Given the description of an element on the screen output the (x, y) to click on. 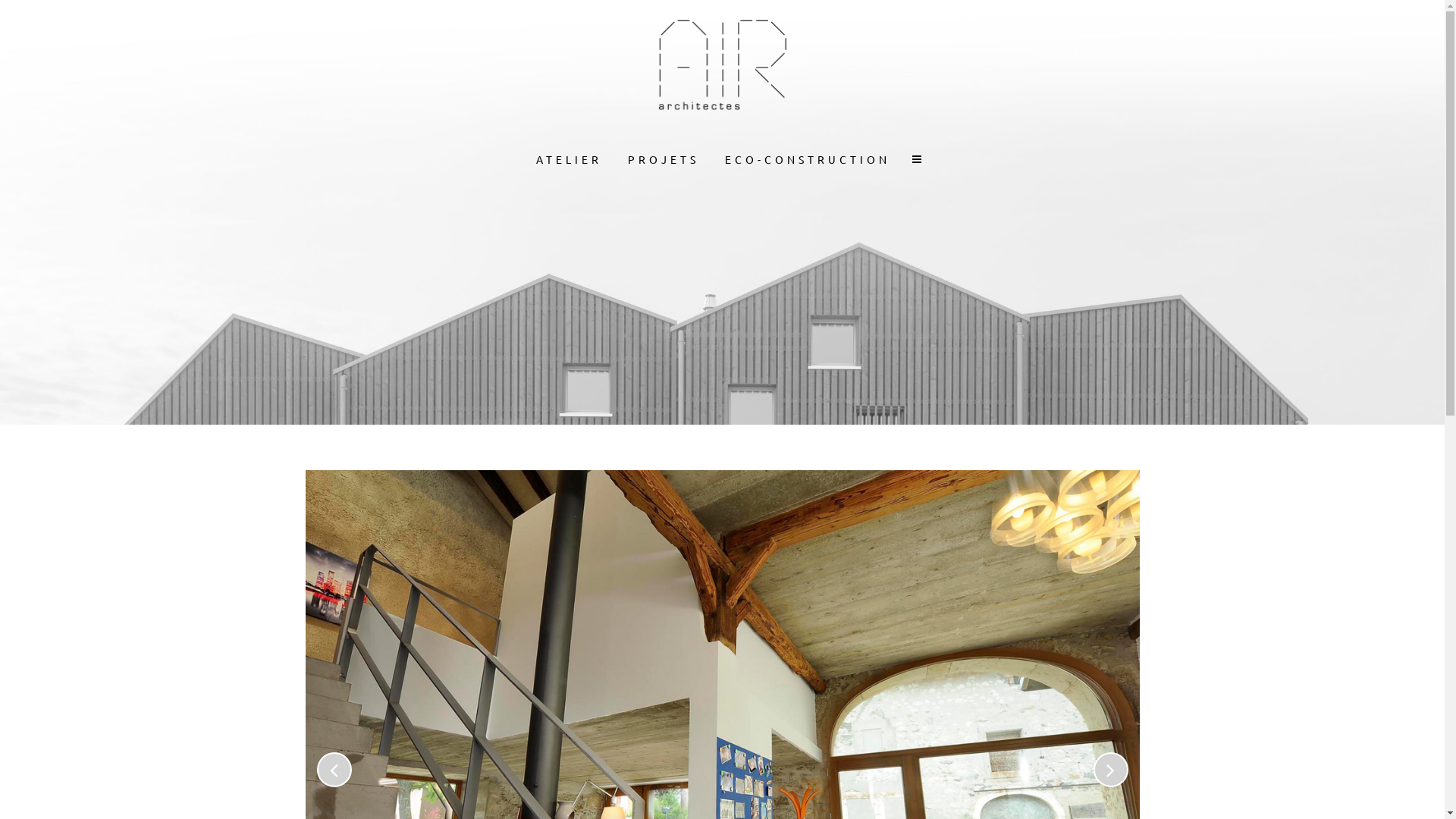
ECO-CONSTRUCTION Element type: text (807, 159)
ATELIER Element type: text (569, 159)
PROJETS Element type: text (663, 159)
